Given the description of an element on the screen output the (x, y) to click on. 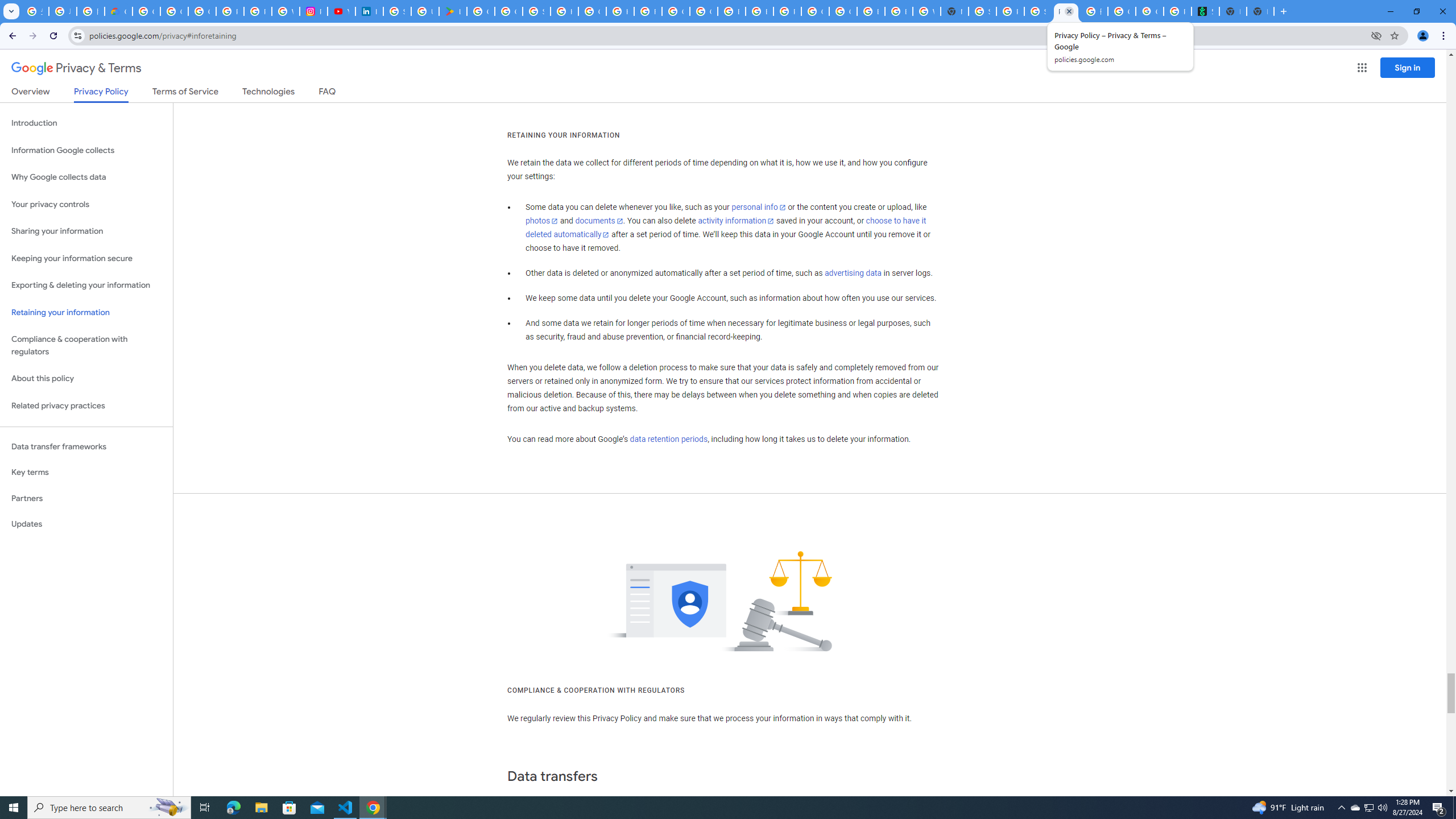
Browse Chrome as a guest - Computer - Google Chrome Help (898, 11)
Last Shelter: Survival - Apps on Google Play (452, 11)
Sign in - Google Accounts (397, 11)
Sign in - Google Accounts (536, 11)
Identity verification via Persona | LinkedIn Help (369, 11)
Updates (86, 524)
